Given the description of an element on the screen output the (x, y) to click on. 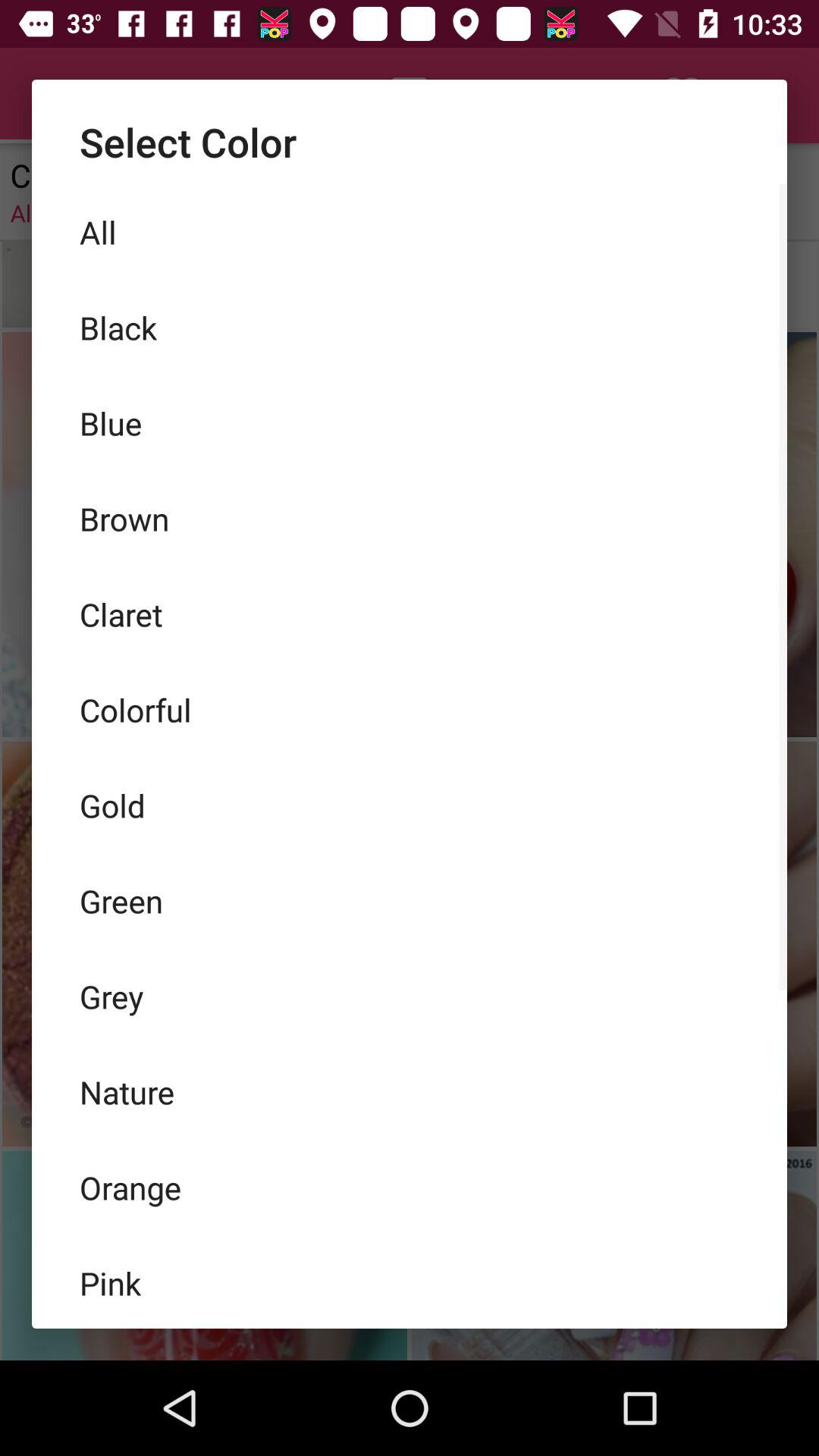
launch item above the pink icon (409, 1187)
